Given the description of an element on the screen output the (x, y) to click on. 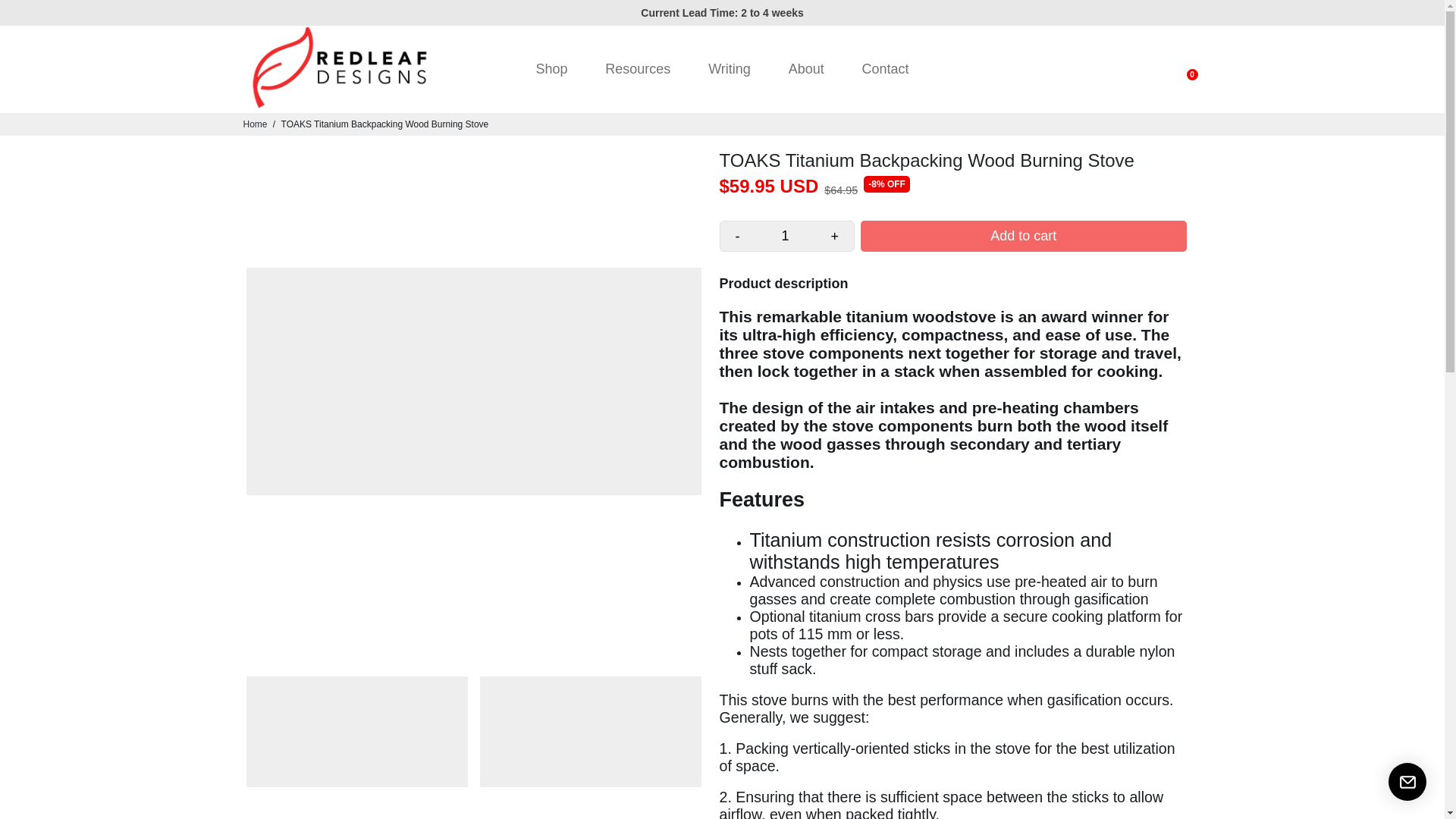
Resources (637, 68)
Home (254, 123)
Shop (550, 68)
About (806, 68)
Writing (729, 68)
1 (785, 235)
